Given the description of an element on the screen output the (x, y) to click on. 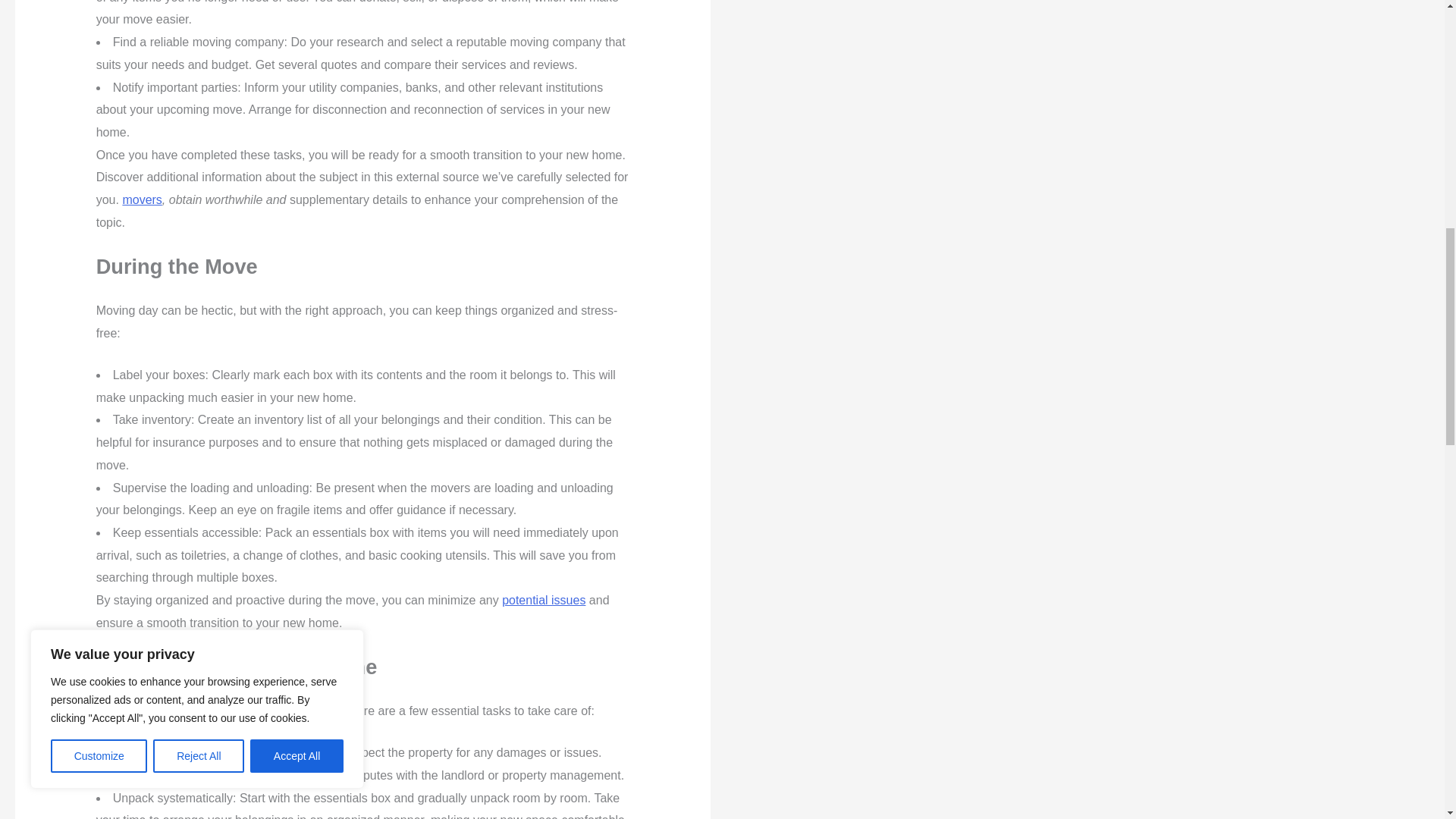
potential issues (543, 599)
movers (141, 199)
